Given the description of an element on the screen output the (x, y) to click on. 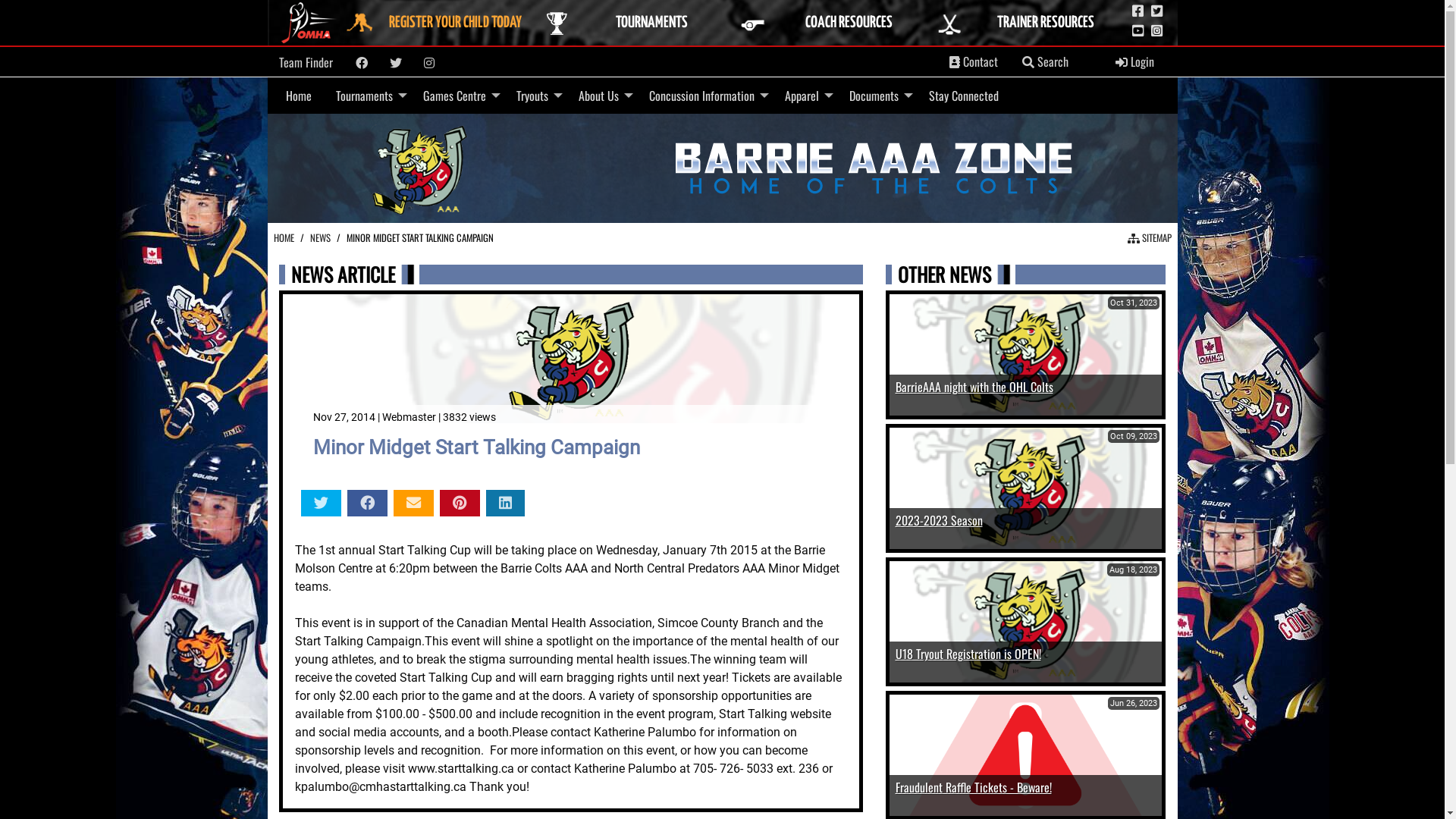
TRAINER RESOURCES Element type: text (1029, 22)
 Login Element type: text (1133, 61)
Home Element type: text (298, 95)
Games Centre Element type: text (457, 95)
 SITEMAP Element type: text (1148, 237)
HOME Element type: text (283, 237)
OMHA Instagram Page Element type: hover (1156, 30)
COACH RESOURCES Element type: text (832, 22)
Fraudulent Raffle Tickets - Beware! Element type: text (972, 787)
Tournaments Element type: text (366, 95)
Link to OMHA Website Element type: hover (310, 22)
2023-2023 Season Element type: text (938, 520)
Twitter Element type: hover (395, 62)
Tryouts Element type: text (534, 95)
Apparel Element type: text (803, 95)
Instagram Element type: hover (428, 62)
Documents Element type: text (876, 95)
Stay Connected Element type: text (963, 95)
U18 Tryout Registration is OPEN! Element type: text (967, 653)
OMHA Twitter Account Element type: hover (1156, 11)
TOURNAMENTS Element type: text (635, 22)
OMHA Facebook Page Element type: hover (1136, 11)
Concussion Information Element type: text (704, 95)
OMHA YouTube Channel Element type: hover (1136, 30)
 Search Element type: text (1045, 61)
Team Finder Element type: text (305, 62)
REGISTER YOUR CHILD TODAY Element type: text (438, 22)
About Us Element type: text (600, 95)
Facebook Element type: hover (360, 62)
Search Element type: hover (1028, 62)
Contacts Element type: hover (954, 62)
BarrieAAA night with the OHL Colts Element type: text (973, 386)
NEWS Element type: text (319, 237)
 Contact Element type: text (973, 61)
